Given the description of an element on the screen output the (x, y) to click on. 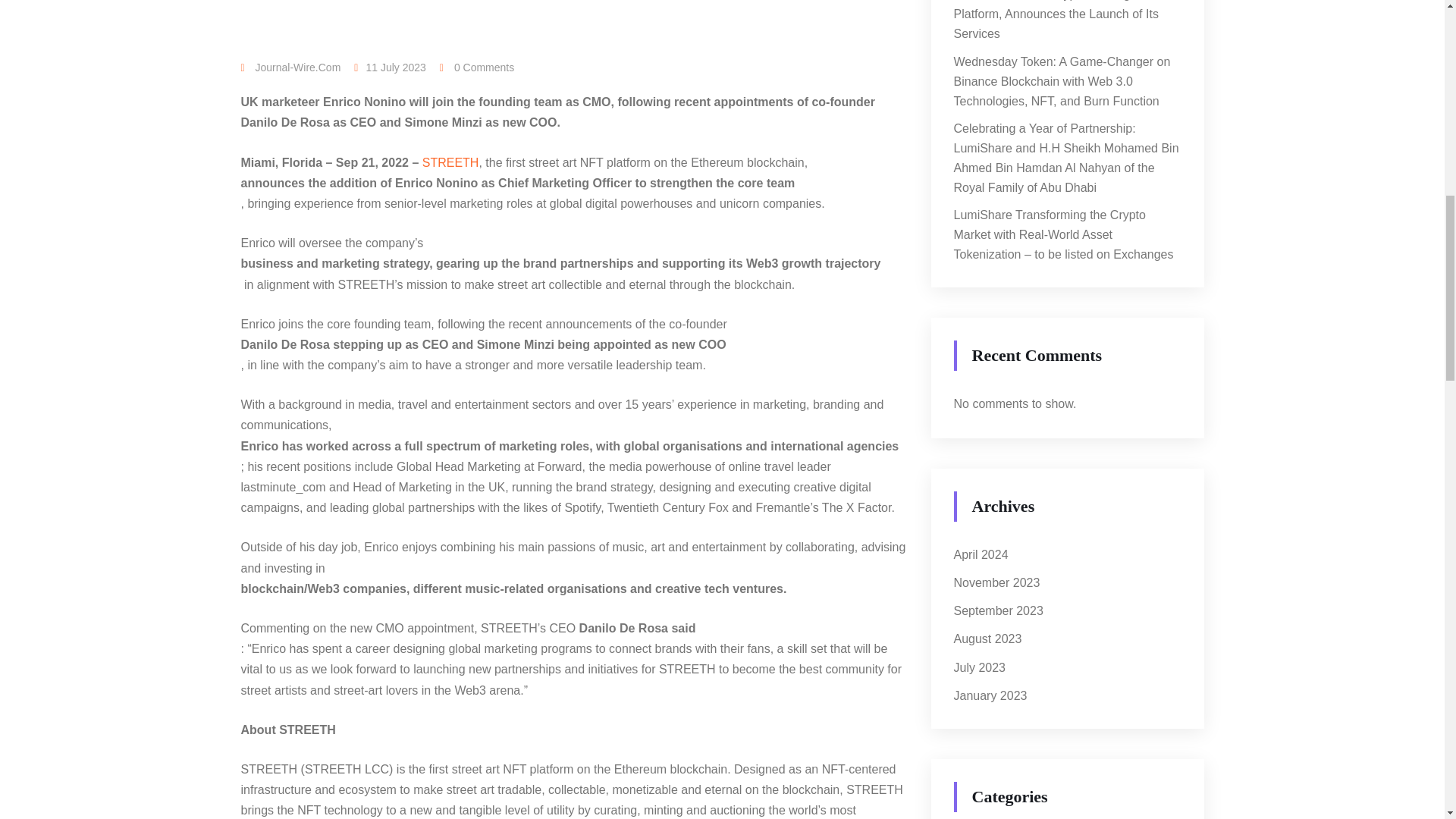
0 Comments (476, 67)
STREETH (450, 162)
Journal-Wire.Com (290, 67)
11 July 2023 (395, 67)
